Given the description of an element on the screen output the (x, y) to click on. 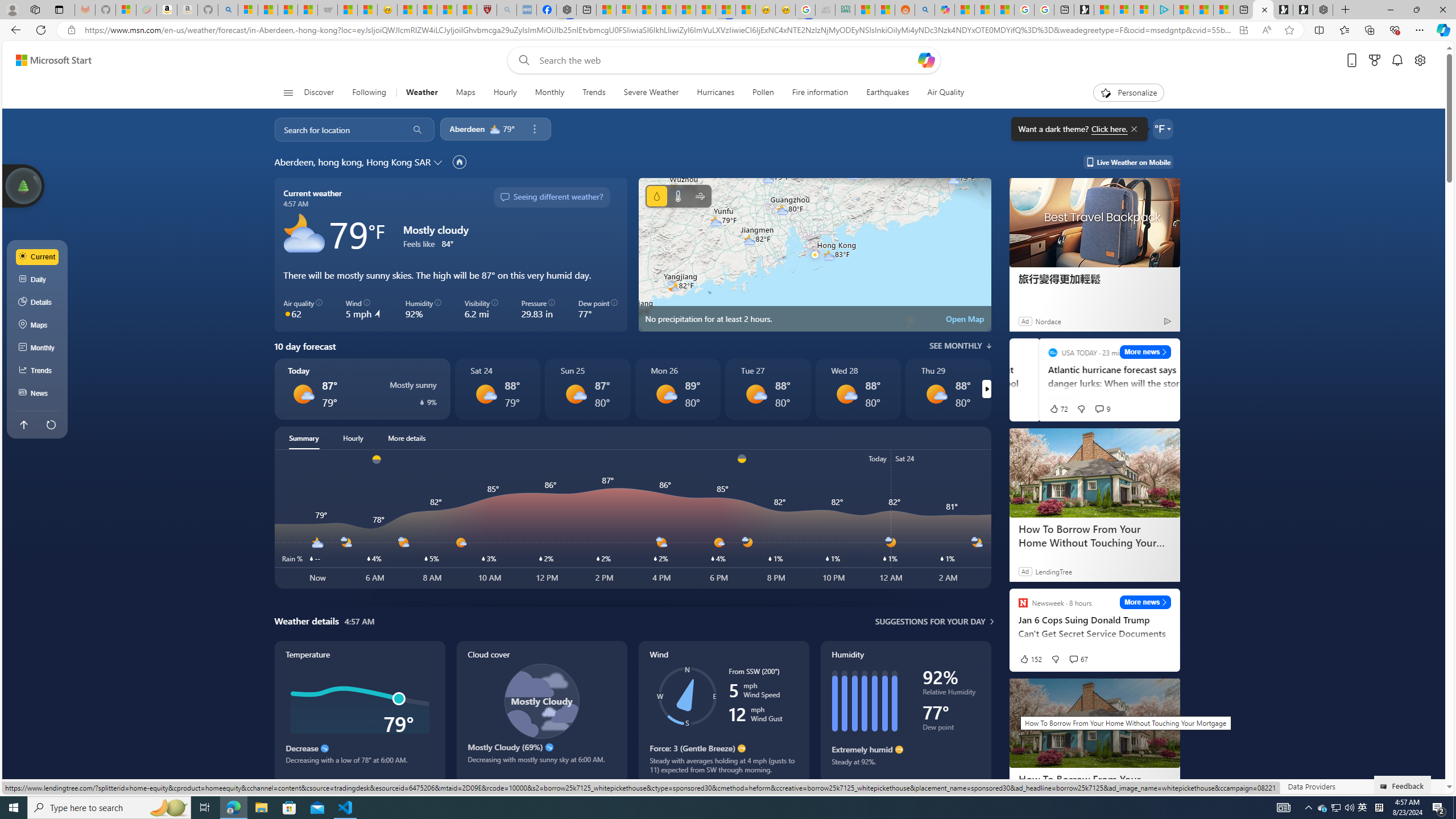
Suggestions for your day (930, 620)
Severe Weather (651, 92)
Combat Siege (327, 9)
Pressure 29.83 in (538, 309)
Class: miniMapRadarSVGView-DS-EntryPoint1-1 (814, 254)
Robert H. Shmerling, MD - Harvard Health (486, 9)
Personalize (1128, 92)
Decrease (324, 748)
